Given the description of an element on the screen output the (x, y) to click on. 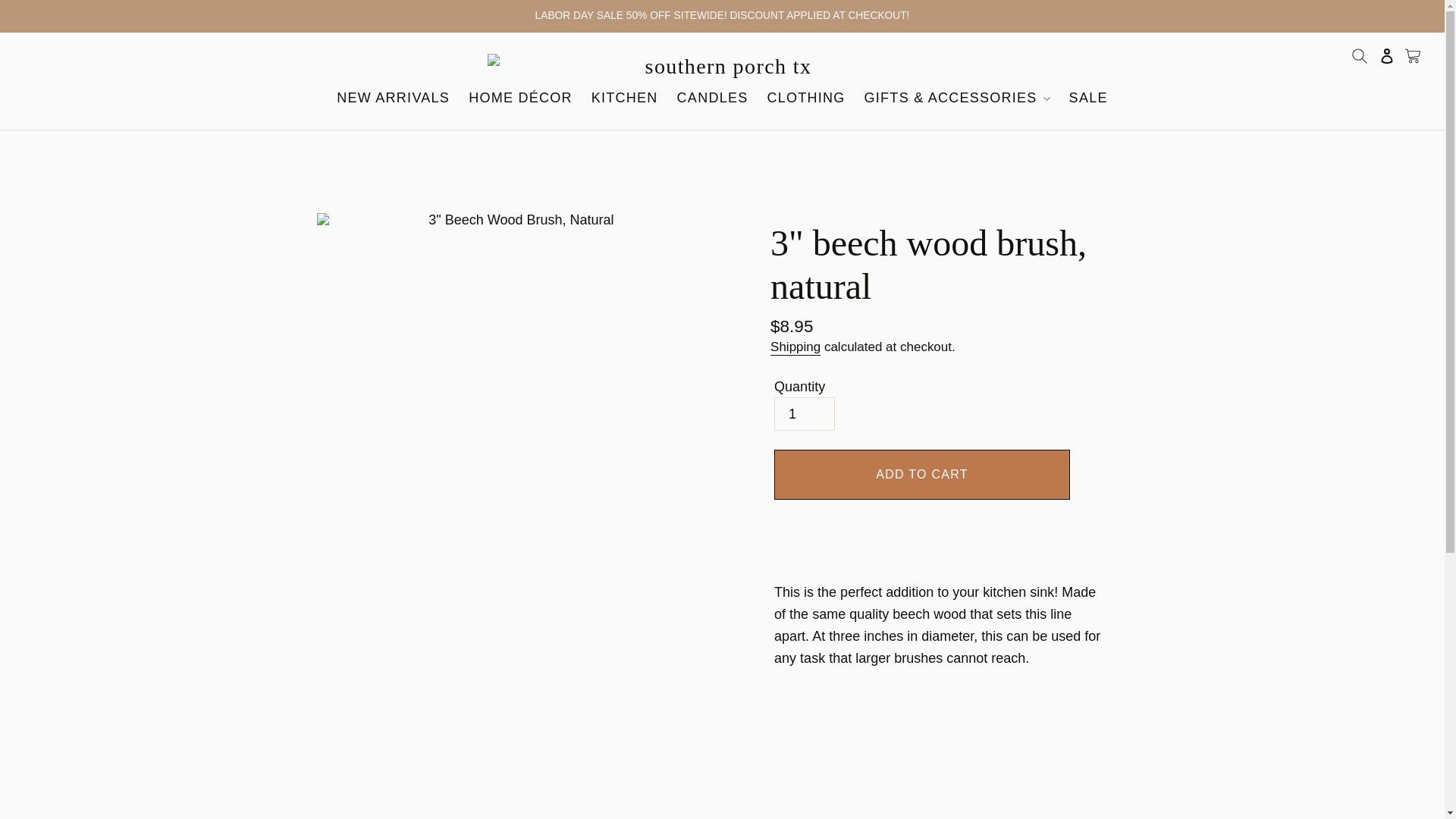
1 (804, 413)
CLOTHING (804, 98)
NEW ARRIVALS (393, 98)
KITCHEN (624, 98)
Shipping (795, 347)
CANDLES (712, 98)
SALE (1088, 98)
ADD TO CART (922, 474)
